Given the description of an element on the screen output the (x, y) to click on. 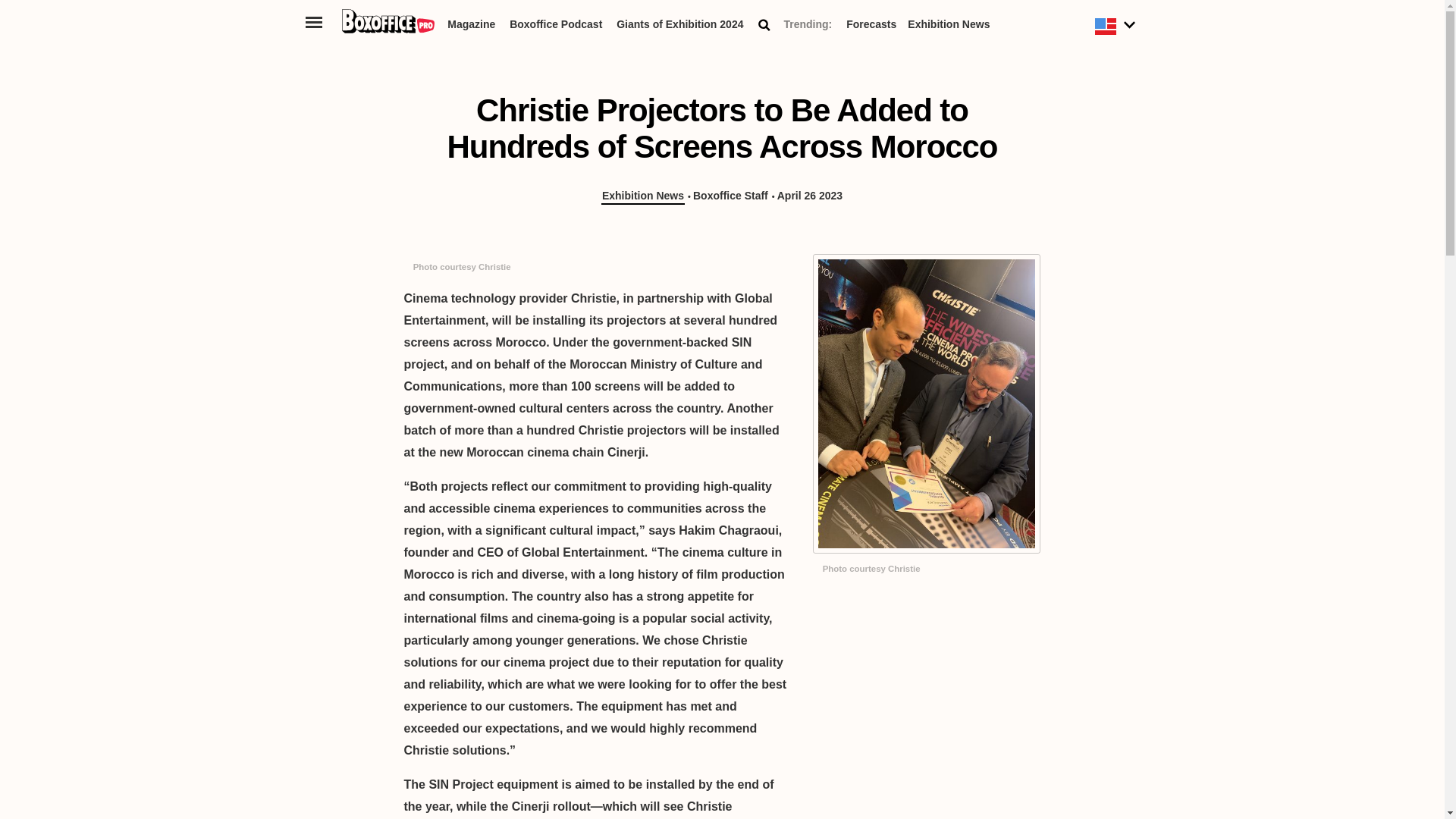
Giants of Exhibition 2024 (678, 27)
Exhibition News (642, 195)
Menu (314, 22)
Forecasts (870, 27)
Boxoffice Podcast (555, 27)
US Edition (1117, 26)
Magazine (470, 27)
Exhibition News (948, 27)
